Given the description of an element on the screen output the (x, y) to click on. 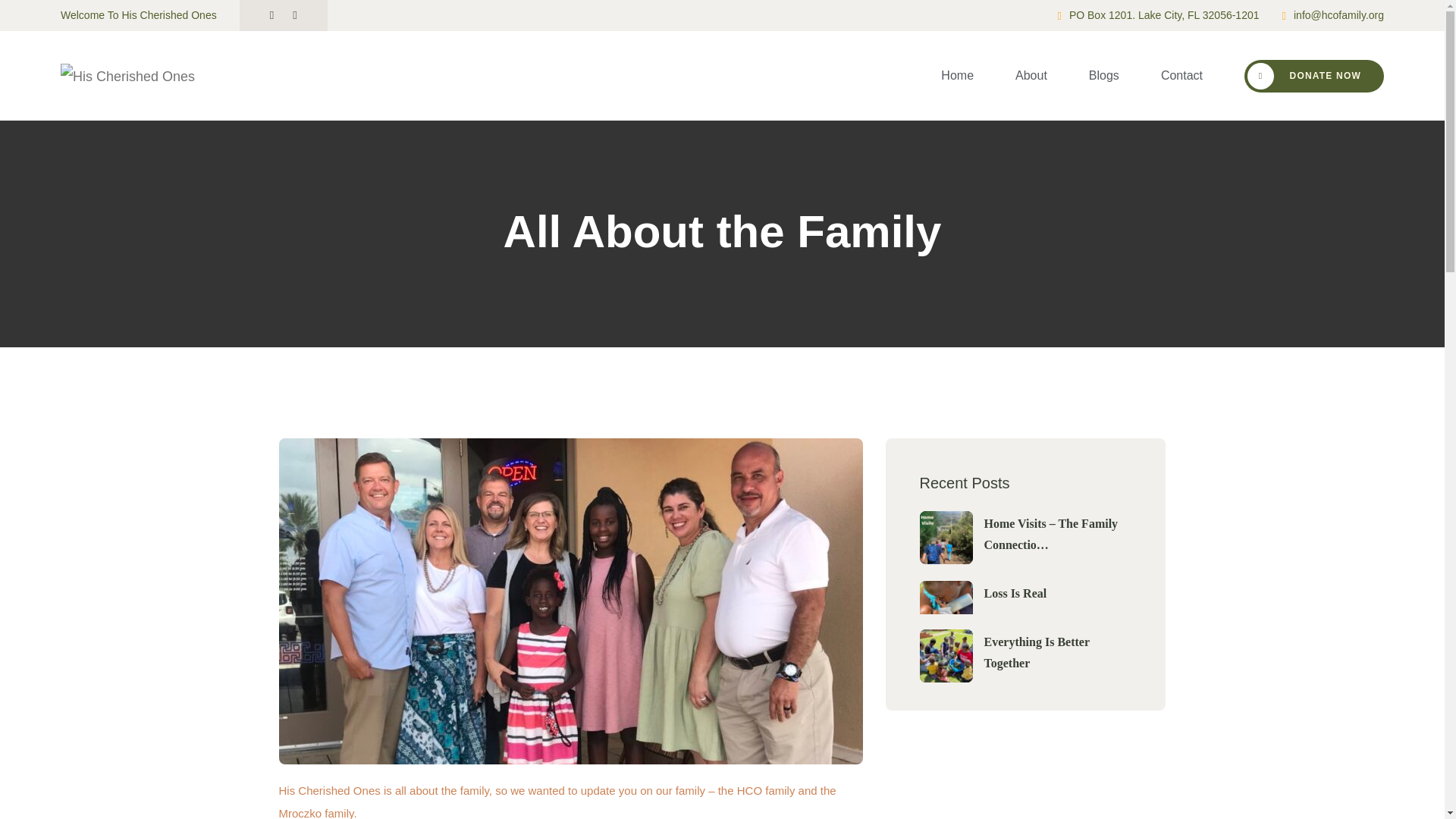
Blogs (1104, 75)
About (1030, 75)
Home (957, 75)
Contact (1181, 75)
DONATE NOW (1314, 74)
